Given the description of an element on the screen output the (x, y) to click on. 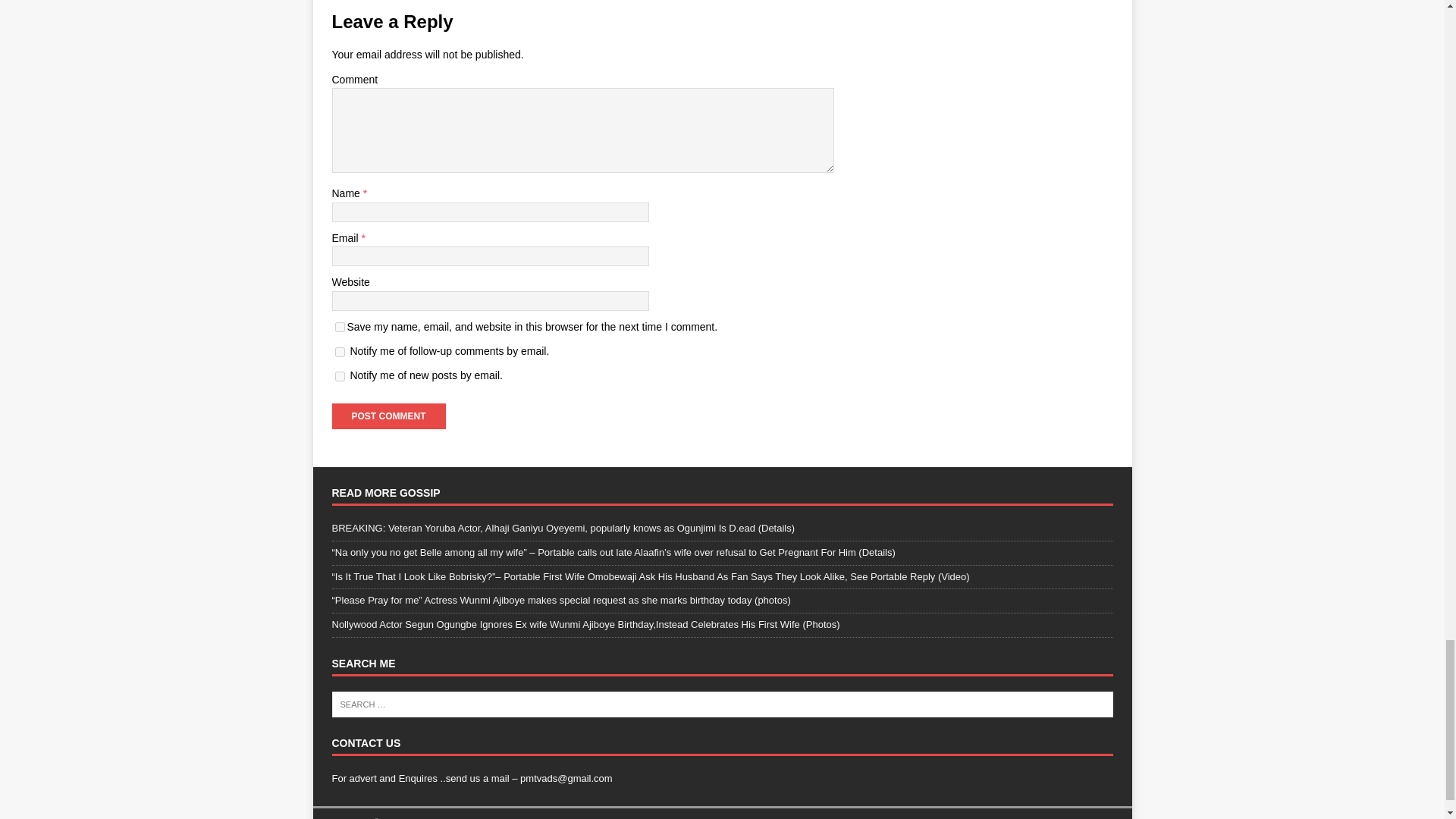
yes (339, 327)
subscribe (339, 376)
Post Comment (388, 416)
Post Comment (388, 416)
subscribe (339, 352)
